Given the description of an element on the screen output the (x, y) to click on. 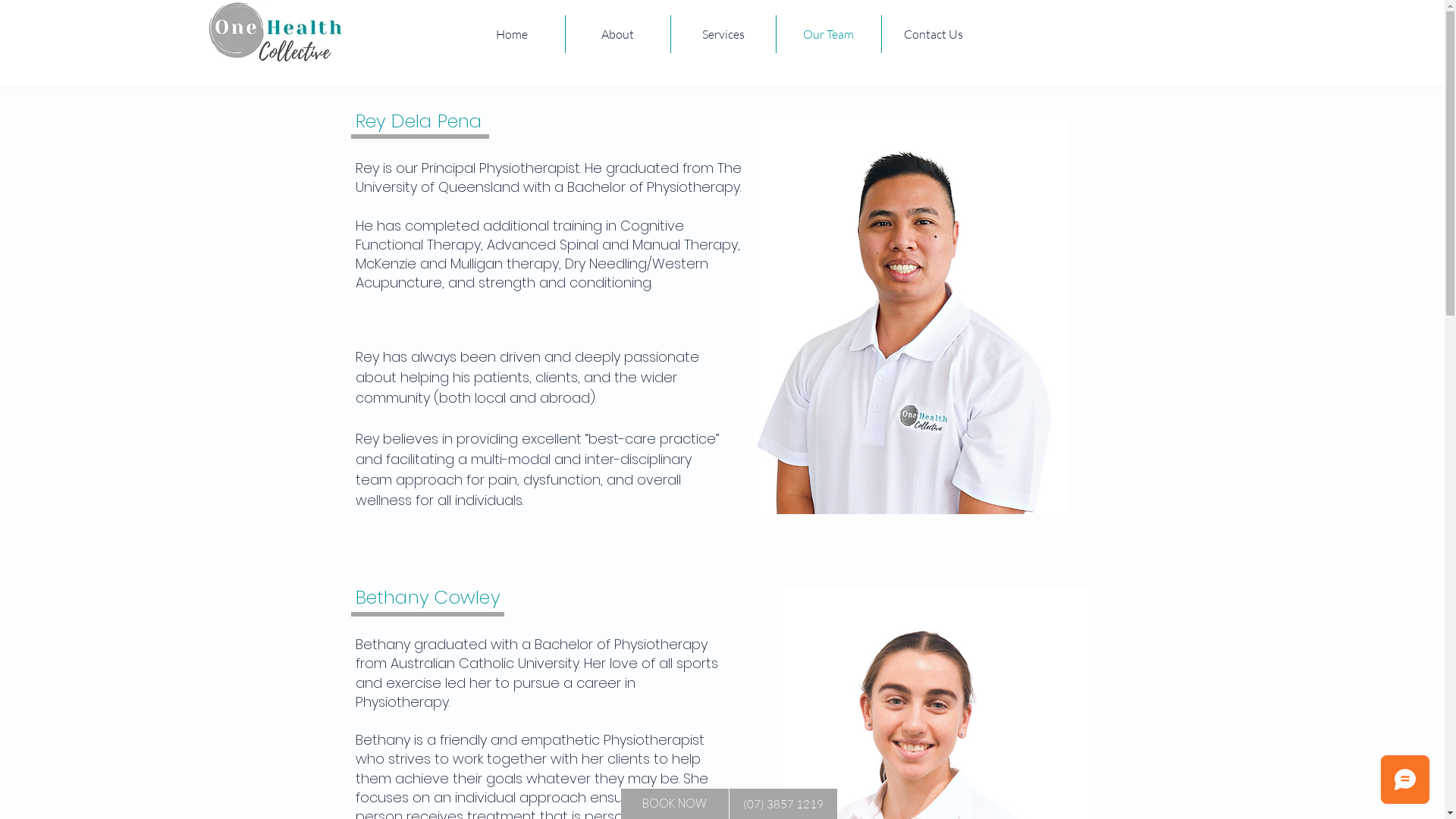
Services Element type: text (722, 34)
Contact Us Element type: text (933, 34)
Our Team Element type: text (828, 34)
Home Element type: text (511, 34)
About Element type: text (617, 34)
